Given the description of an element on the screen output the (x, y) to click on. 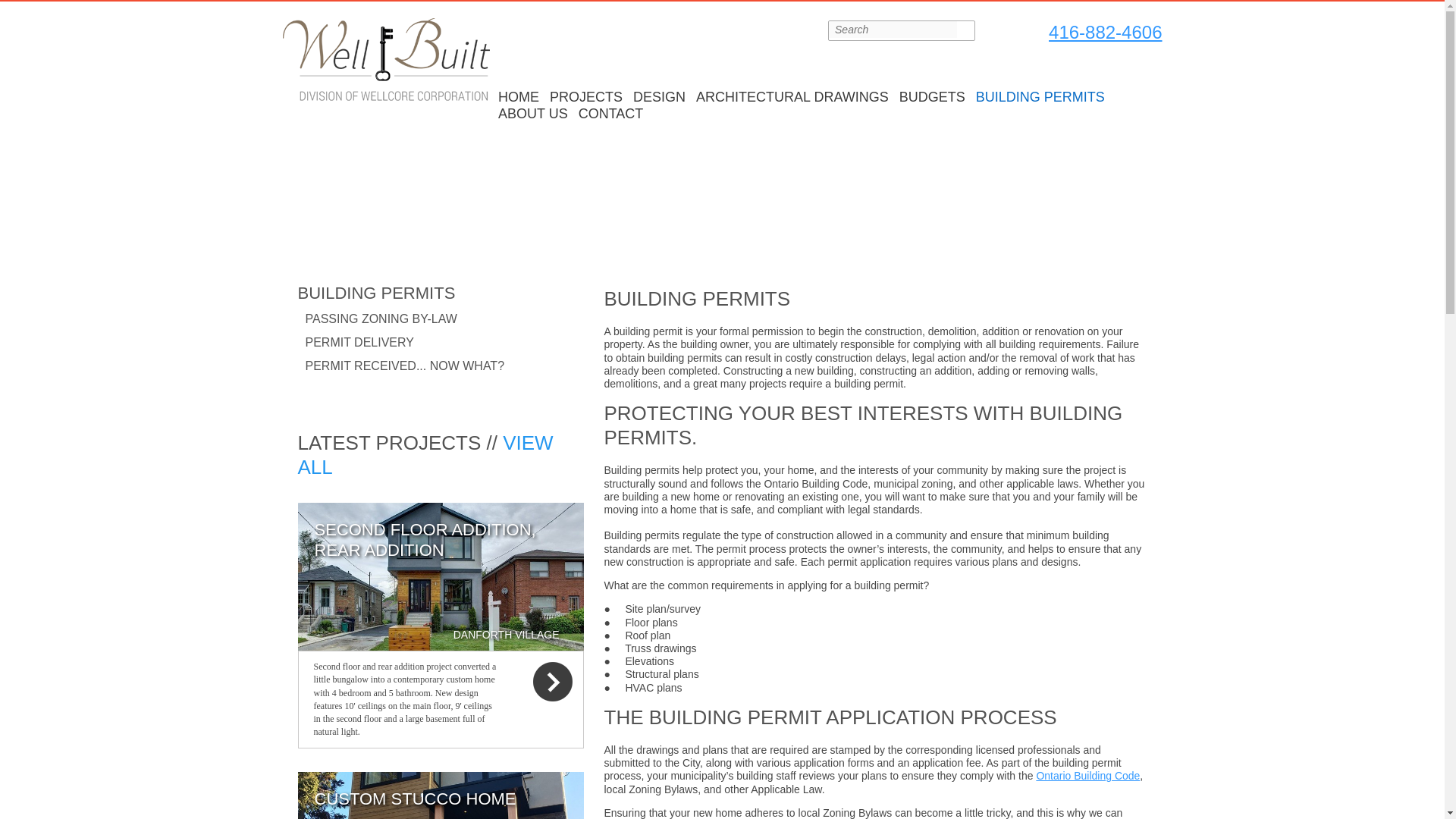
BUILDING PERMITS (1040, 96)
PERMIT DELIVERY (358, 341)
PASSING ZONING BY-LAW (380, 318)
ARCHITECTURAL DRAWINGS (791, 96)
SECOND FLOOR ADDITION, REAR ADDITION (424, 539)
VIEW ALL (425, 454)
PROJECTS (585, 96)
DESIGN (658, 96)
ABOUT US (533, 113)
CUSTOM STUCCO HOME (414, 798)
